Given the description of an element on the screen output the (x, y) to click on. 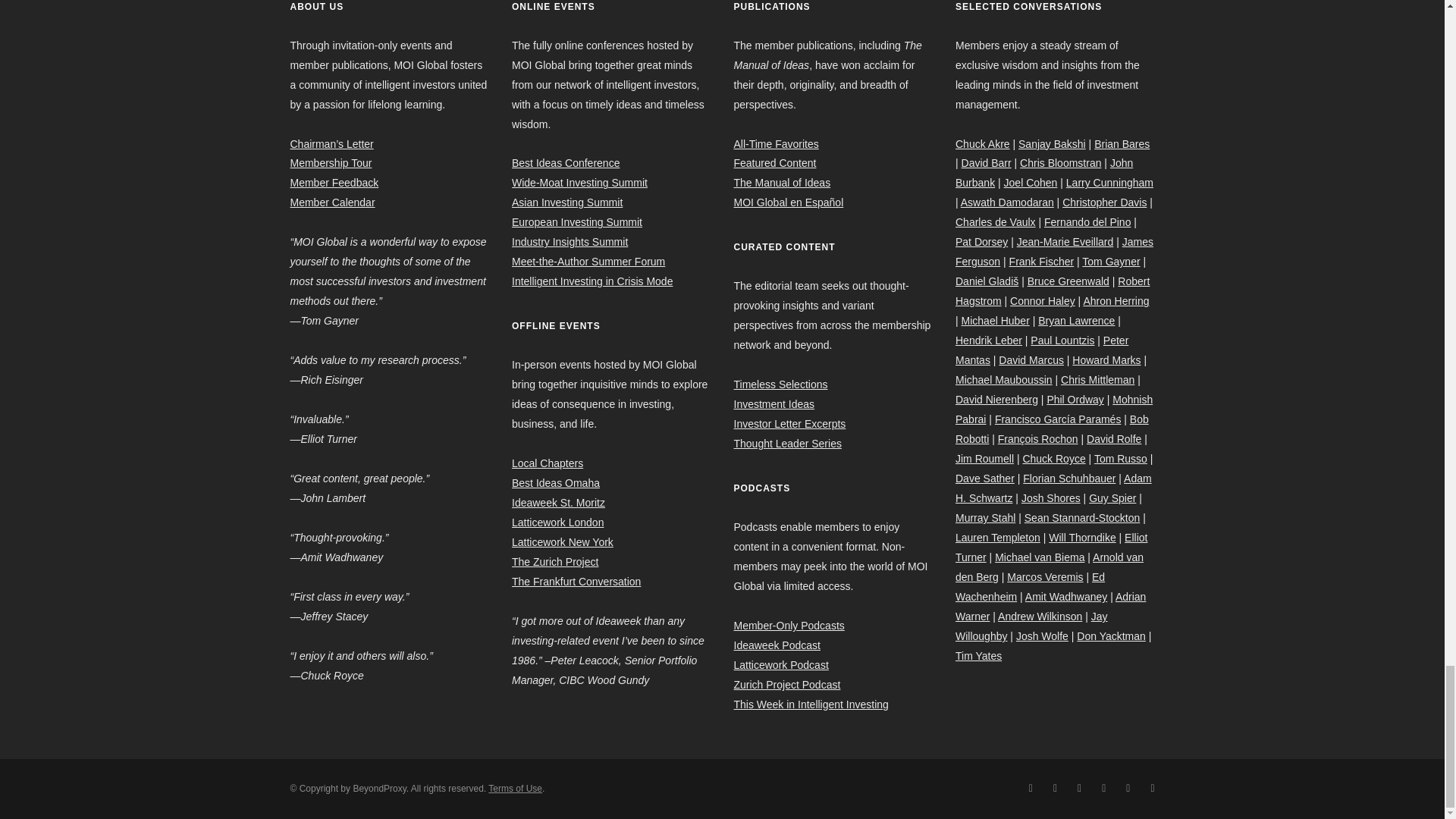
MOI Global Apple Page (1102, 787)
MOI Global Youtube Page (1079, 787)
MOI Global Linkedin Page (1054, 787)
MOI Global Udemy Page (1152, 787)
MOI Global Strava Page (1127, 787)
MOI Global Twitter Page (1029, 787)
